Given the description of an element on the screen output the (x, y) to click on. 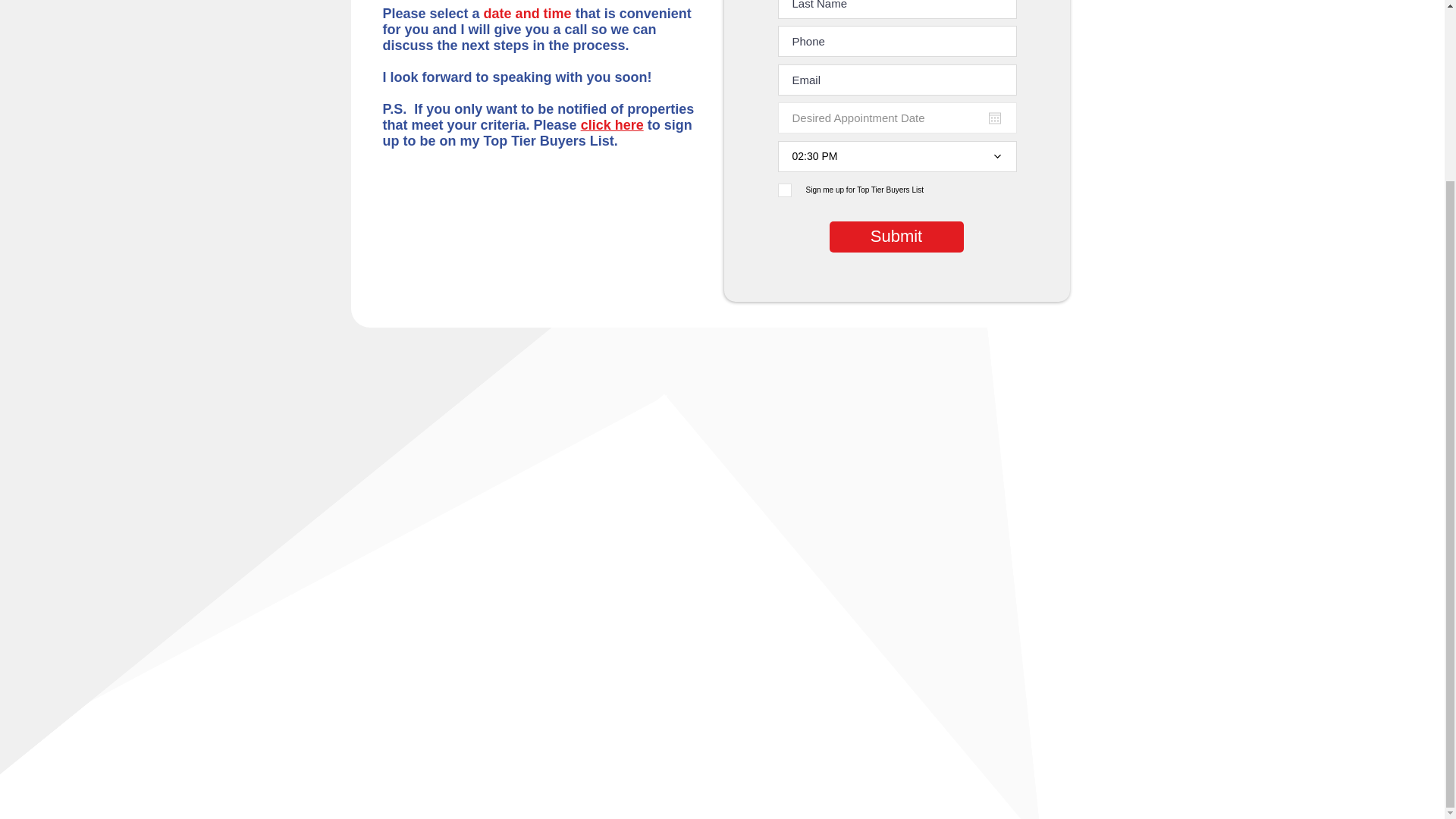
click here (611, 124)
Submit (896, 236)
